Given the description of an element on the screen output the (x, y) to click on. 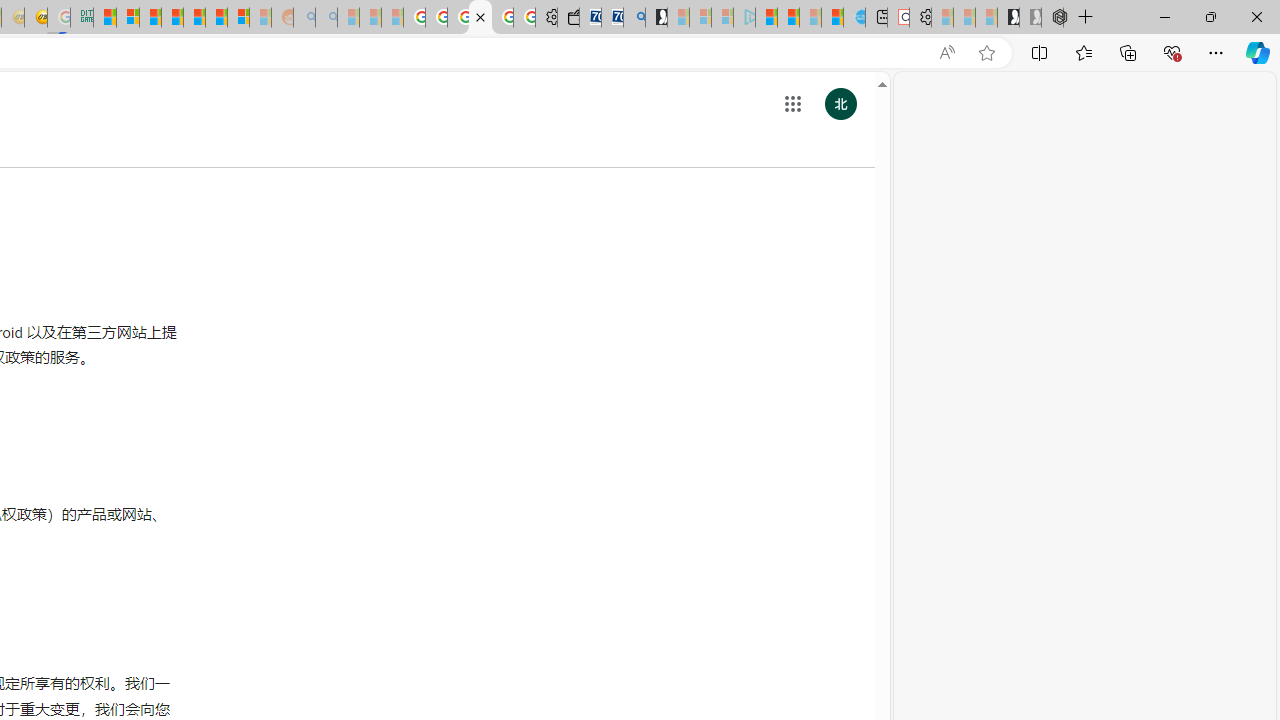
Student Loan Update: Forgiveness Program Ends This Month (172, 17)
Kinda Frugal - MSN (216, 17)
